Given the description of an element on the screen output the (x, y) to click on. 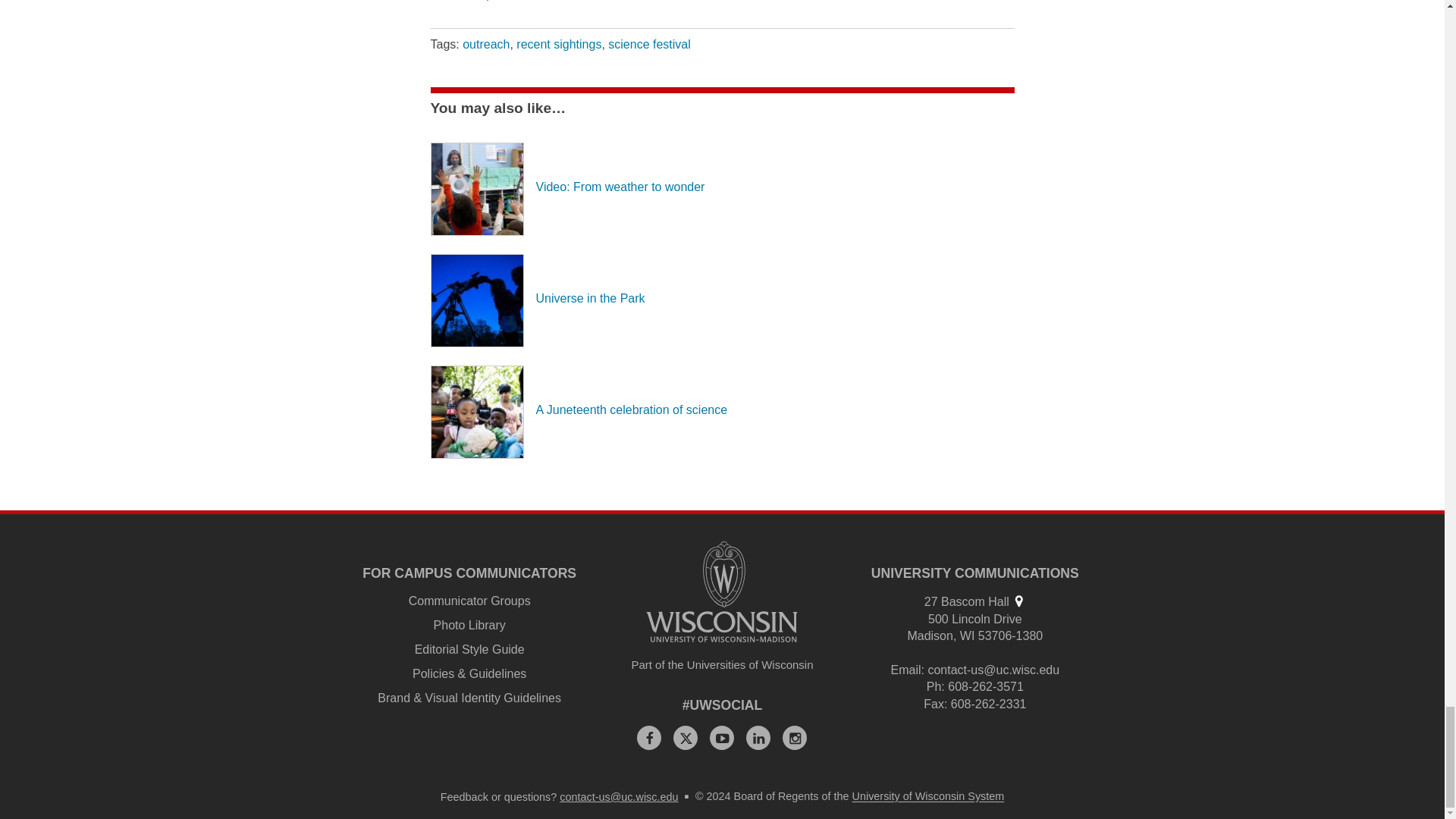
Linked In (757, 737)
View on campus map (1018, 600)
Wisconsin (967, 635)
phone (934, 686)
Facebook (649, 737)
YouTube (721, 737)
X, formerly Twitter (684, 737)
Instagram (794, 737)
University logo that links to main university website (721, 591)
Social media links (722, 704)
